Given the description of an element on the screen output the (x, y) to click on. 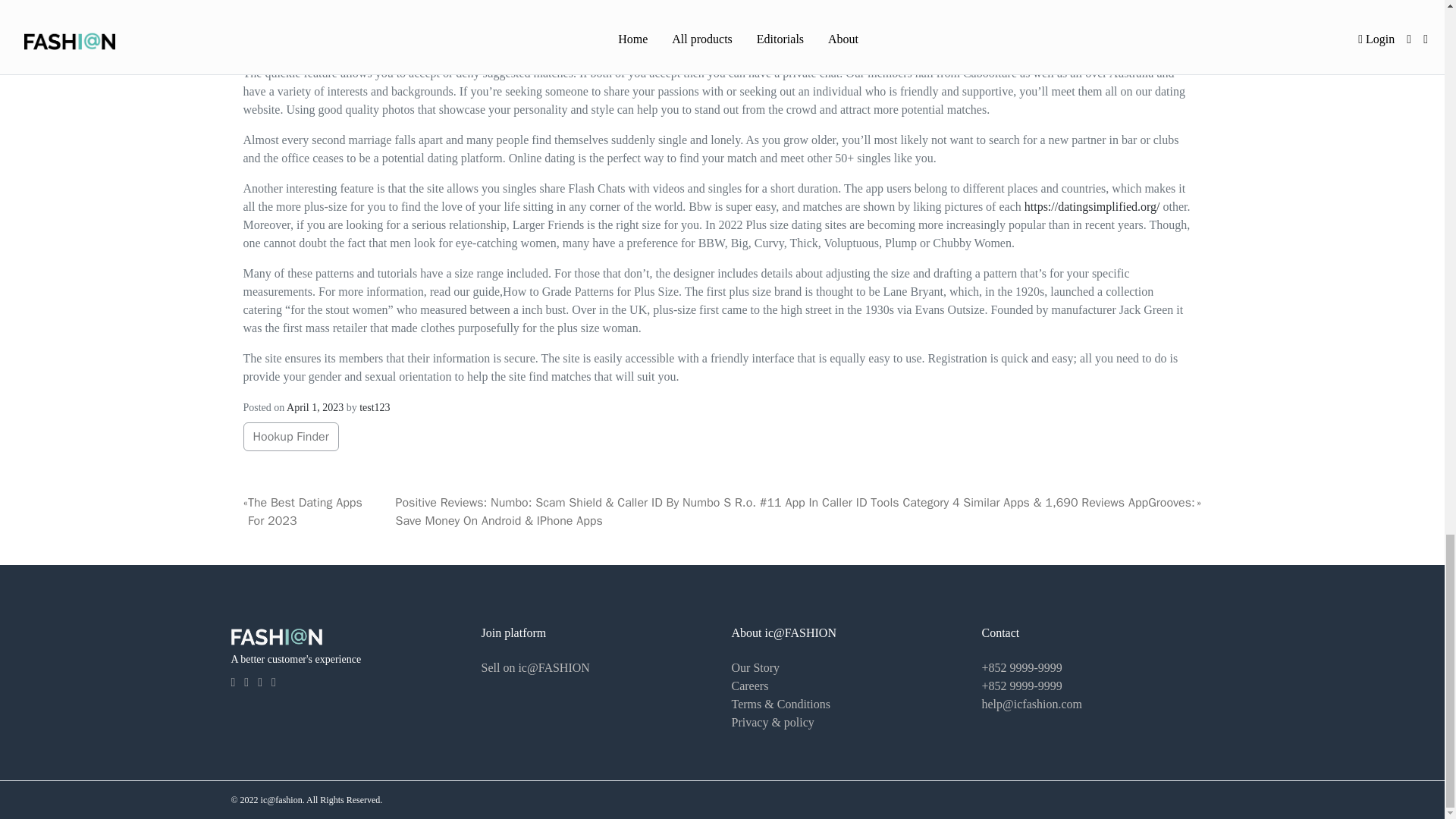
Careers (749, 685)
test123 (374, 407)
The Best Dating Apps For 2023 (321, 511)
Our Story (754, 667)
Hookup Finder (291, 436)
Hookup Finder (290, 436)
April 1, 2023 (314, 407)
